Given the description of an element on the screen output the (x, y) to click on. 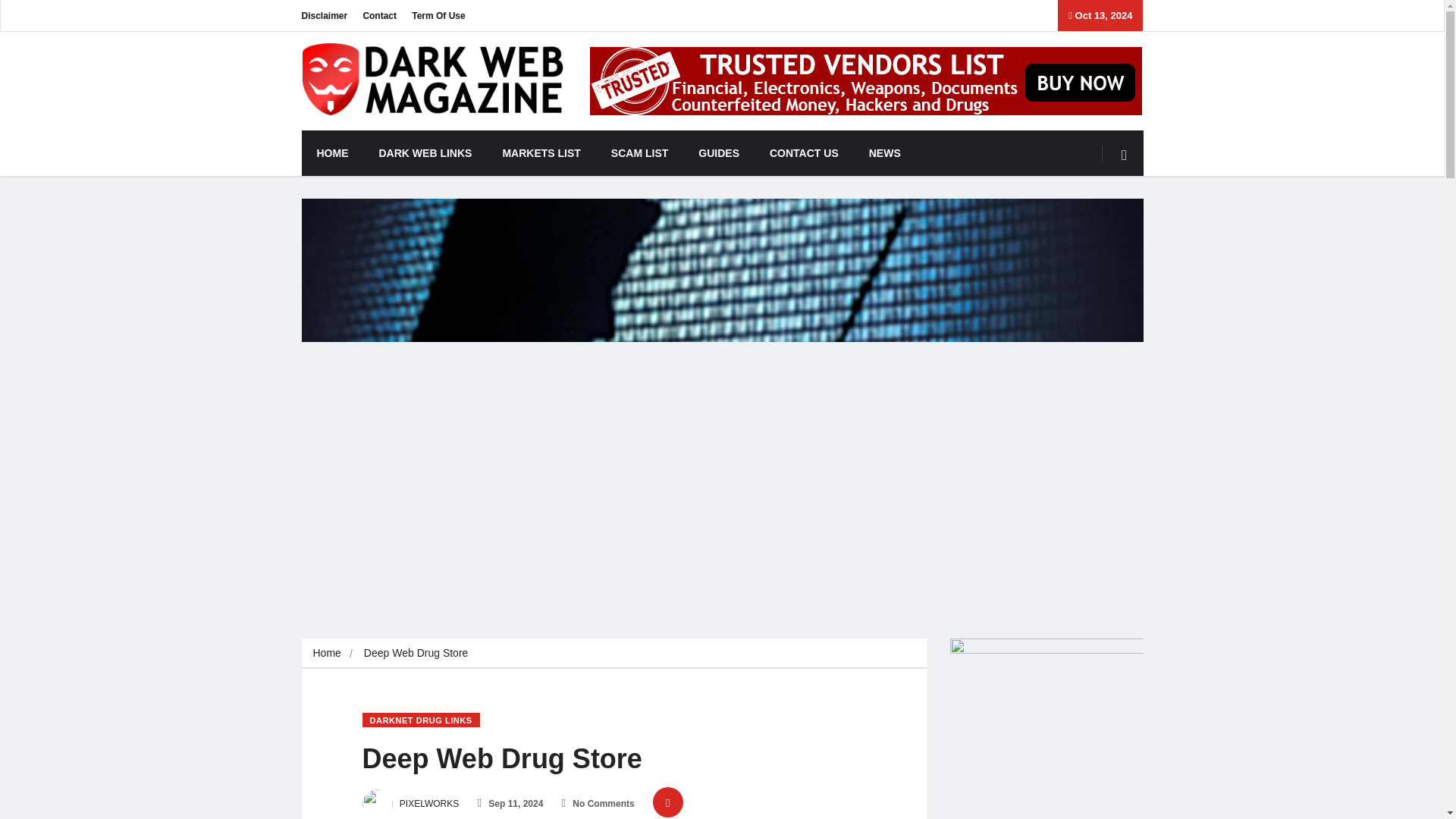
Term Of Use (438, 15)
DARK WEB LINKS (425, 153)
PIXELWORKS (411, 803)
CONTACT US (803, 153)
Disclaimer (324, 15)
SCAM LIST (638, 153)
NEWS (884, 153)
Home (326, 653)
HOME (332, 153)
Contact (379, 15)
